Given the description of an element on the screen output the (x, y) to click on. 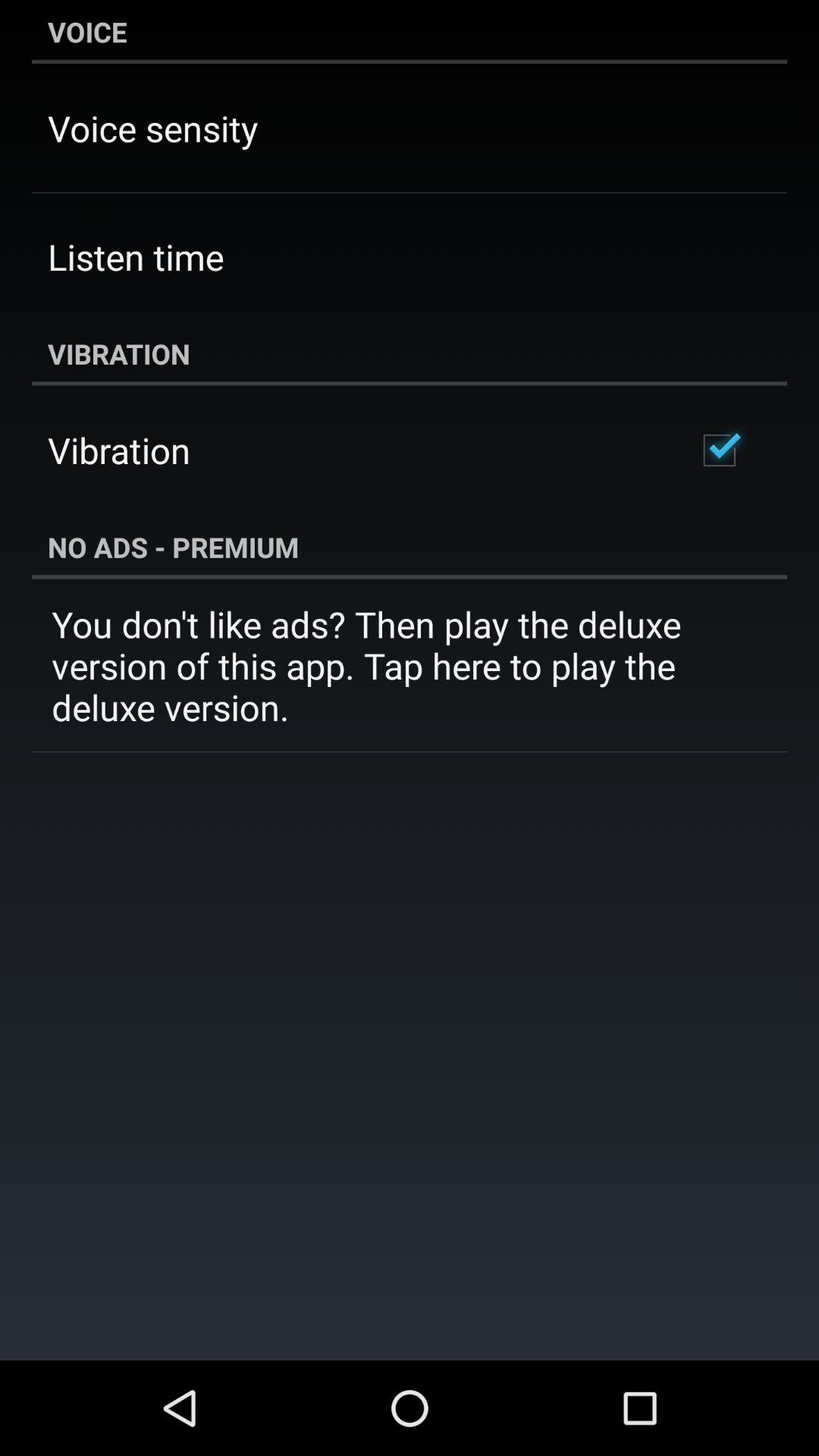
open listen time item (135, 256)
